Given the description of an element on the screen output the (x, y) to click on. 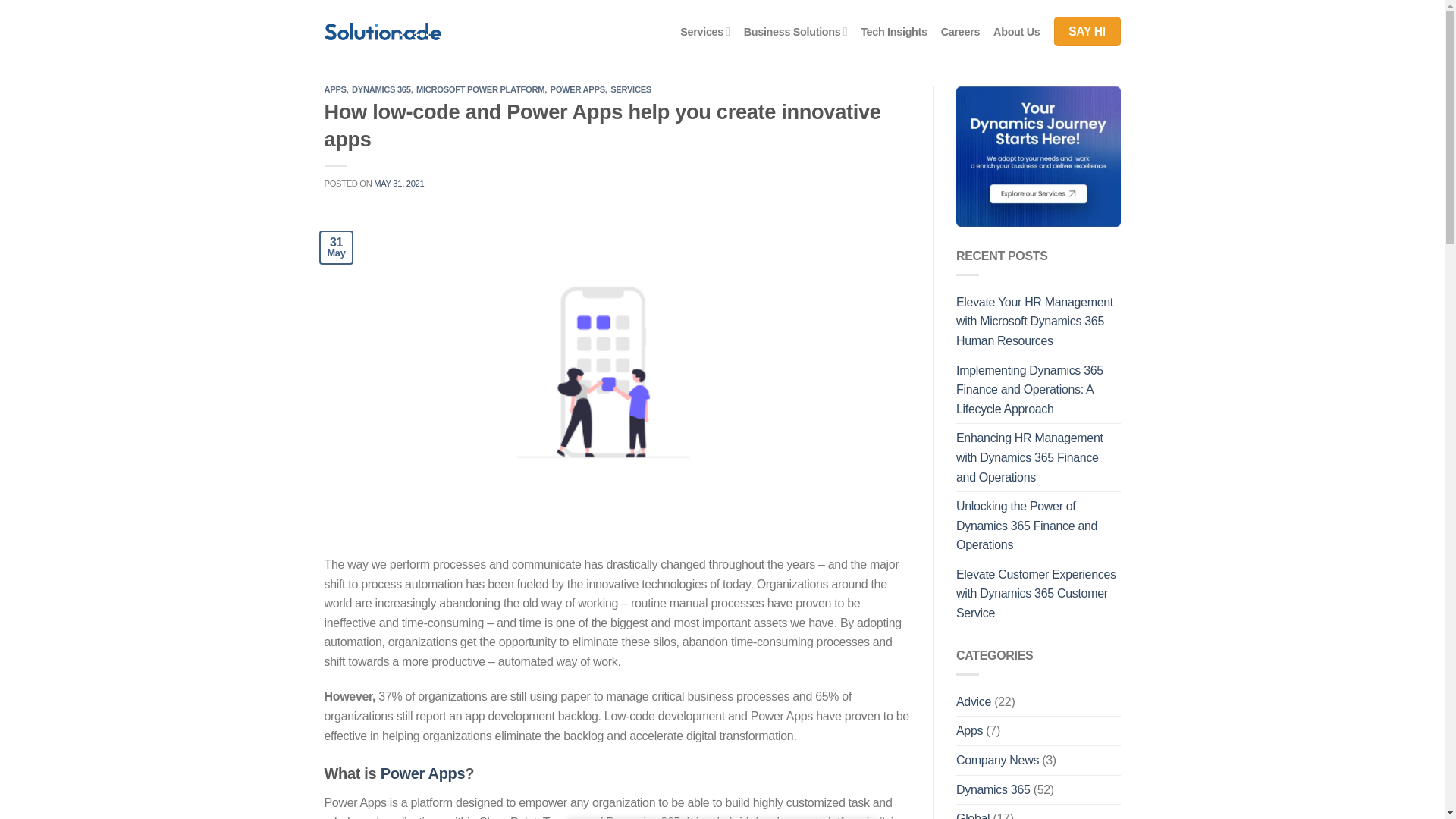
Solutionade - Adapt. Enrich. Deliver. (382, 31)
Tech Insights (893, 31)
APPS (335, 89)
SERVICES (630, 89)
About Us (1015, 31)
MICROSOFT POWER PLATFORM (480, 89)
Services (704, 30)
Business Solutions (795, 30)
MAY 31, 2021 (398, 183)
DYNAMICS 365 (381, 89)
